Given the description of an element on the screen output the (x, y) to click on. 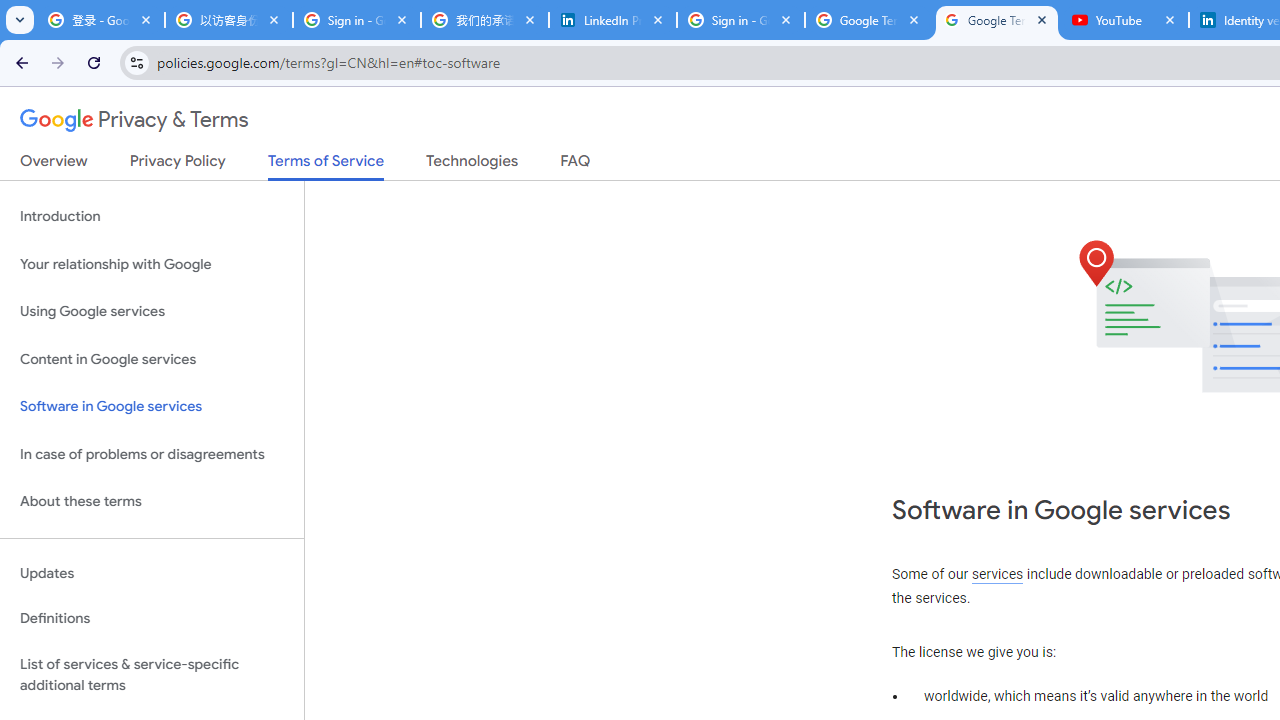
LinkedIn Privacy Policy (613, 20)
services (997, 574)
Sign in - Google Accounts (357, 20)
